Given the description of an element on the screen output the (x, y) to click on. 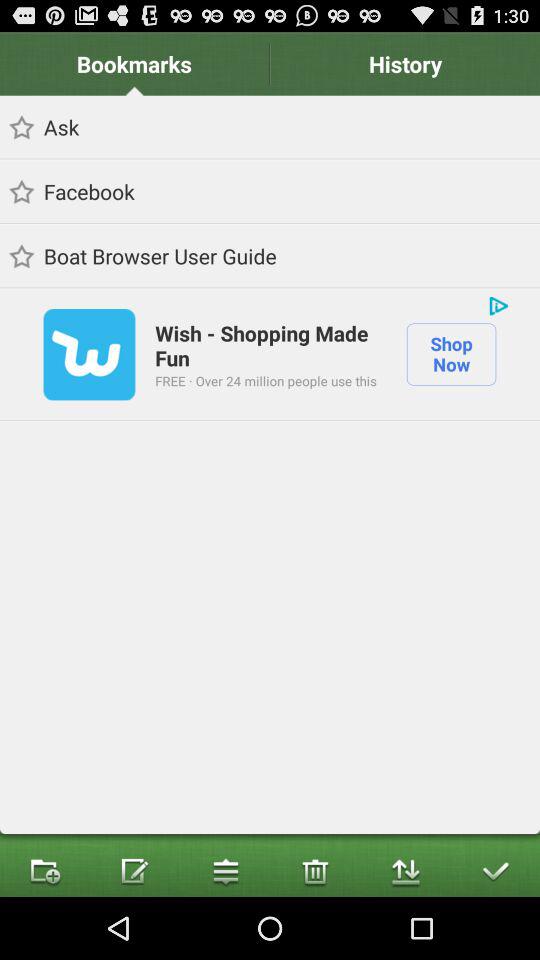
turn on icon next to the wish shopping made (451, 354)
